Given the description of an element on the screen output the (x, y) to click on. 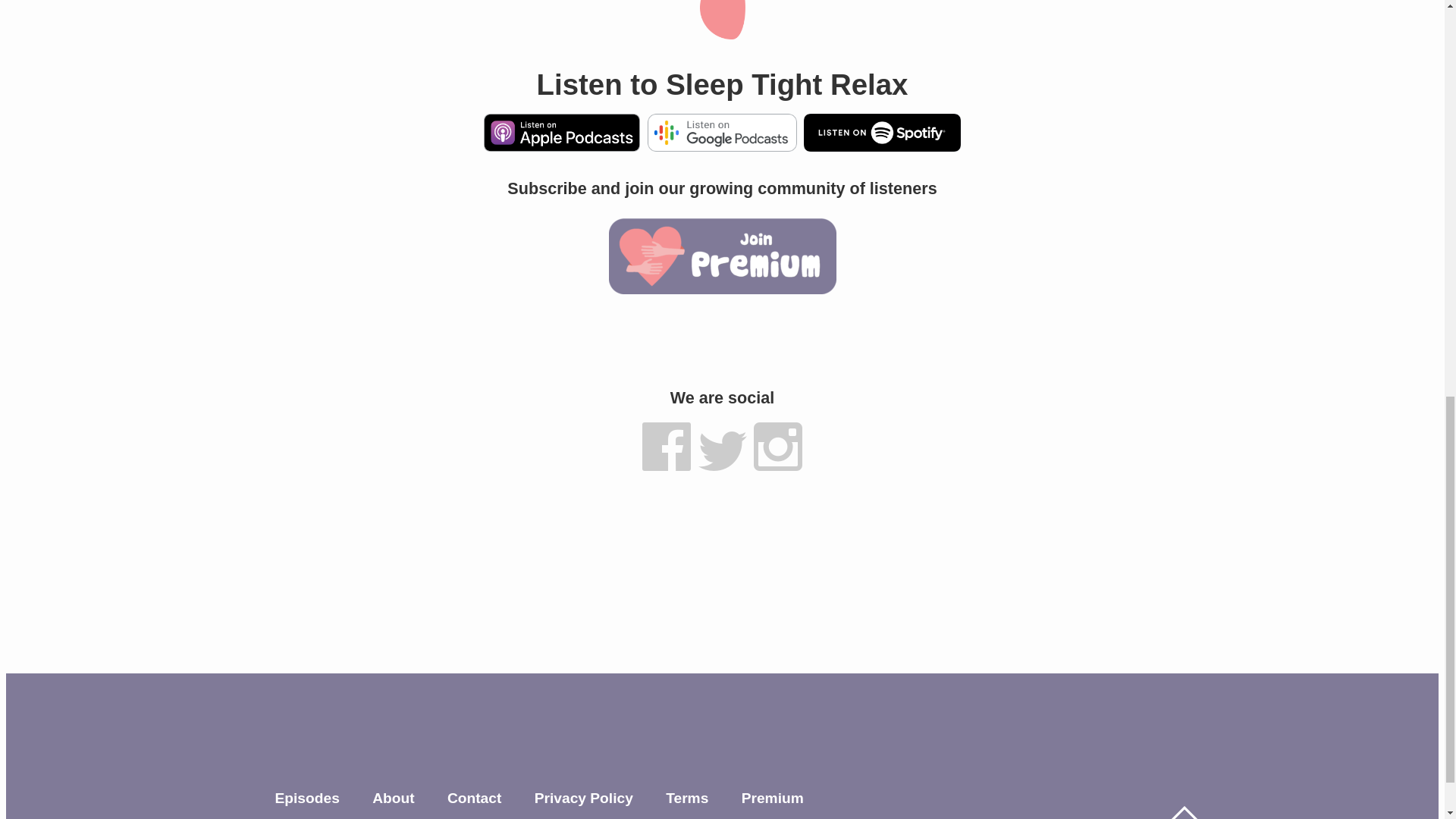
Top (1183, 812)
Listen to Sleep Tight Relax on Spotify (881, 146)
Premium (772, 797)
Episodes (307, 797)
Listen to Sleep Tight Relax on Apple Podcasts (561, 146)
Privacy Policy (583, 797)
Contact (473, 797)
Listen to Sleep Tight Relax on Google Podcasts (721, 146)
Terms (686, 797)
About (392, 797)
